Given the description of an element on the screen output the (x, y) to click on. 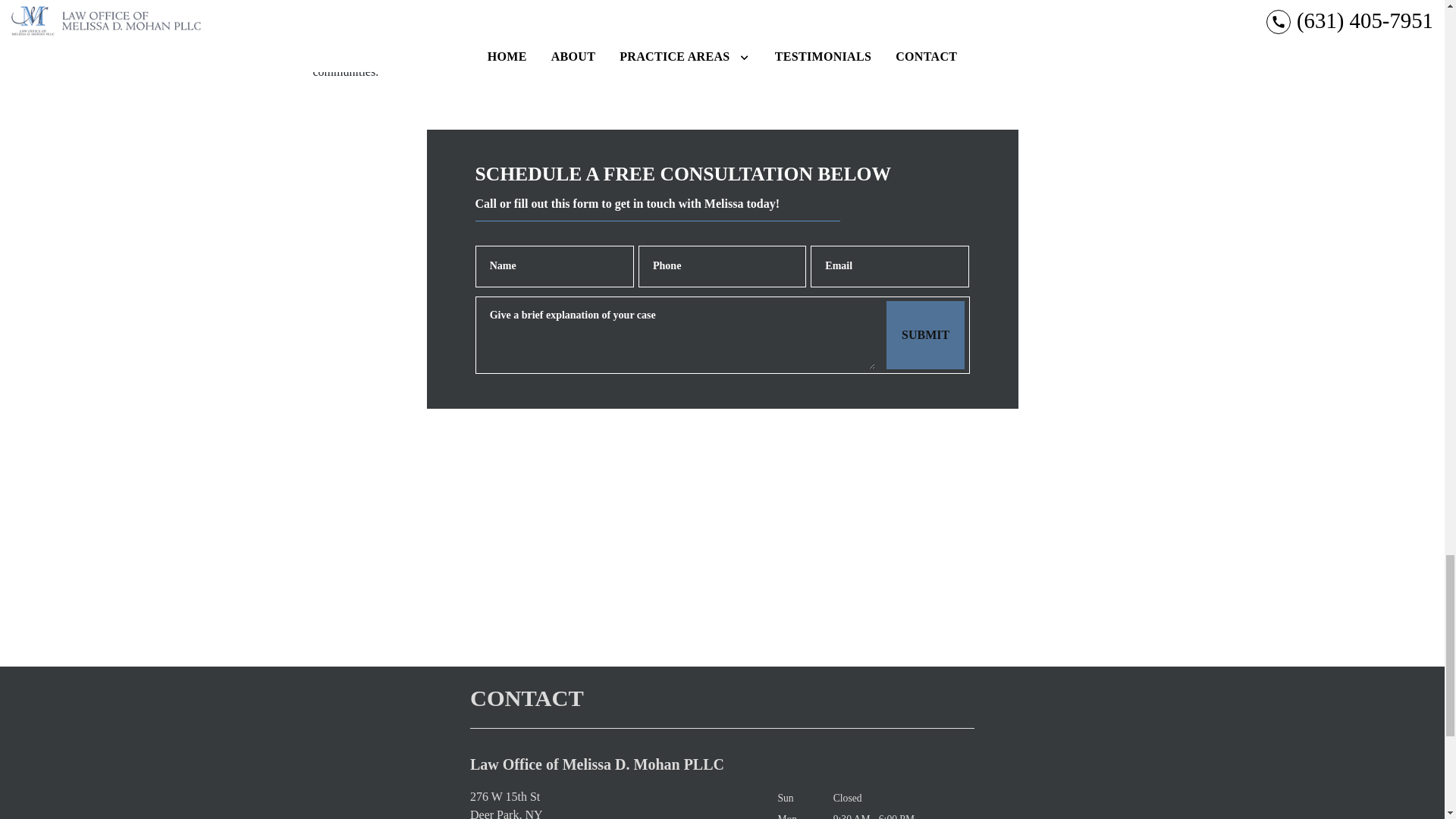
SUBMIT (924, 335)
